Given the description of an element on the screen output the (x, y) to click on. 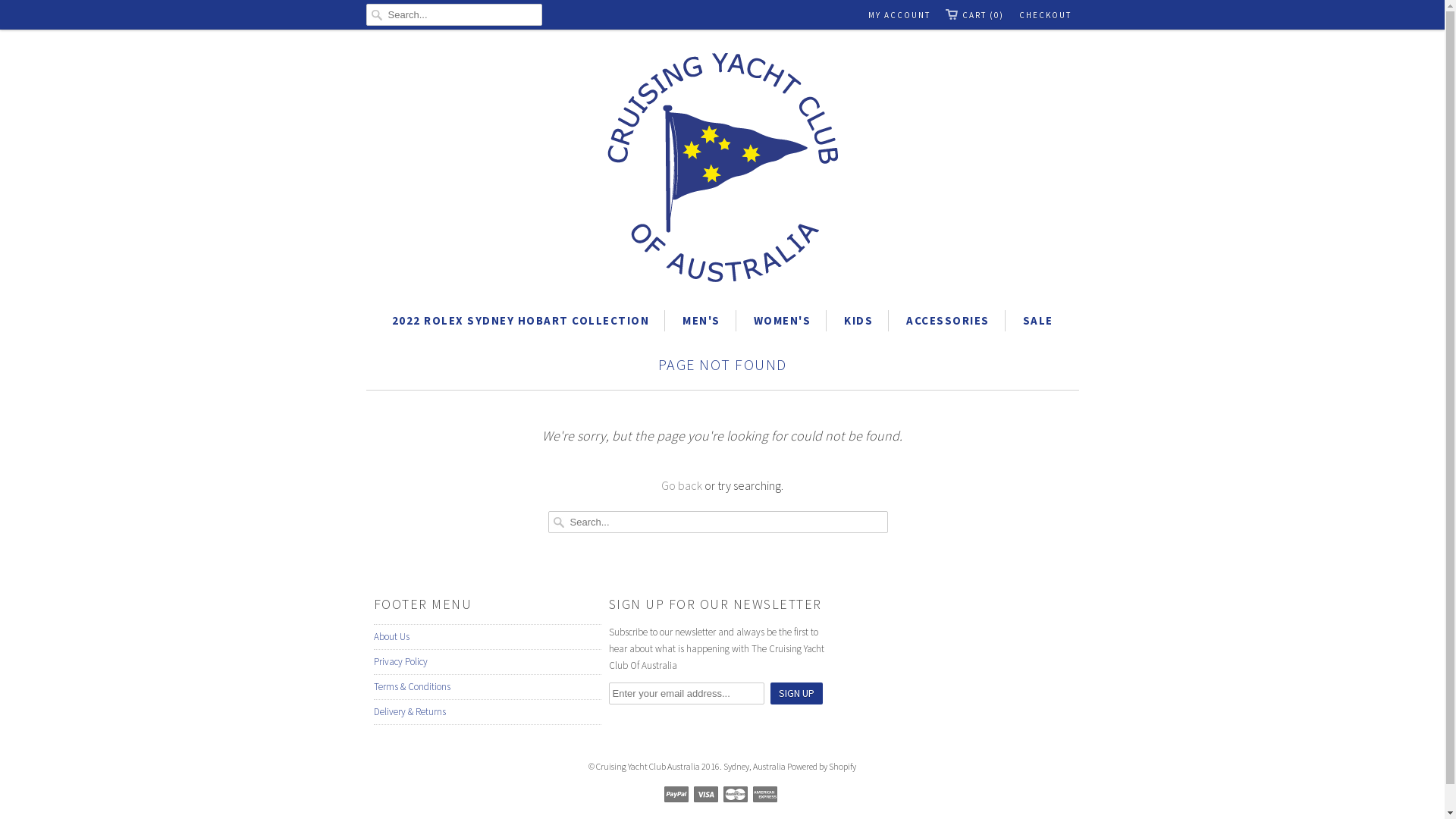
Powered by Shopify Element type: text (821, 761)
ACCESSORIES Element type: text (947, 320)
Delivery & Returns Element type: text (409, 711)
CART (0) Element type: text (973, 14)
WOMEN'S Element type: text (782, 320)
Privacy Policy Element type: text (399, 661)
About Us Element type: text (390, 636)
MY ACCOUNT Element type: text (898, 14)
MEN'S Element type: text (701, 320)
CHECKOUT Element type: text (1045, 14)
KIDS Element type: text (858, 320)
Sign Up Element type: text (796, 693)
Terms & Conditions Element type: text (411, 686)
Go back Element type: text (681, 484)
2022 ROLEX SYDNEY HOBART COLLECTION Element type: text (520, 320)
SALE Element type: text (1037, 320)
Cruising Yacht Club of Australia Element type: hover (721, 170)
